Given the description of an element on the screen output the (x, y) to click on. 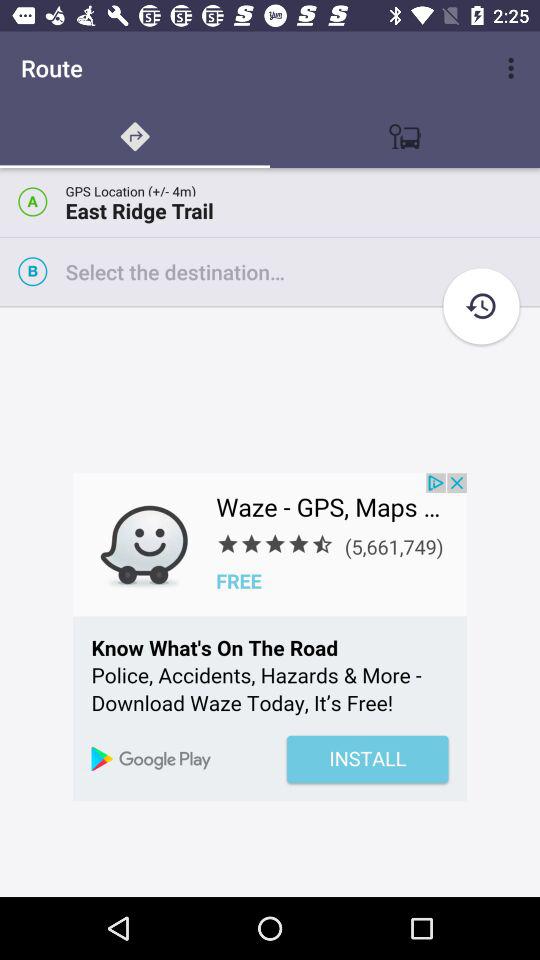
open advertisement for wazew (269, 637)
